Given the description of an element on the screen output the (x, y) to click on. 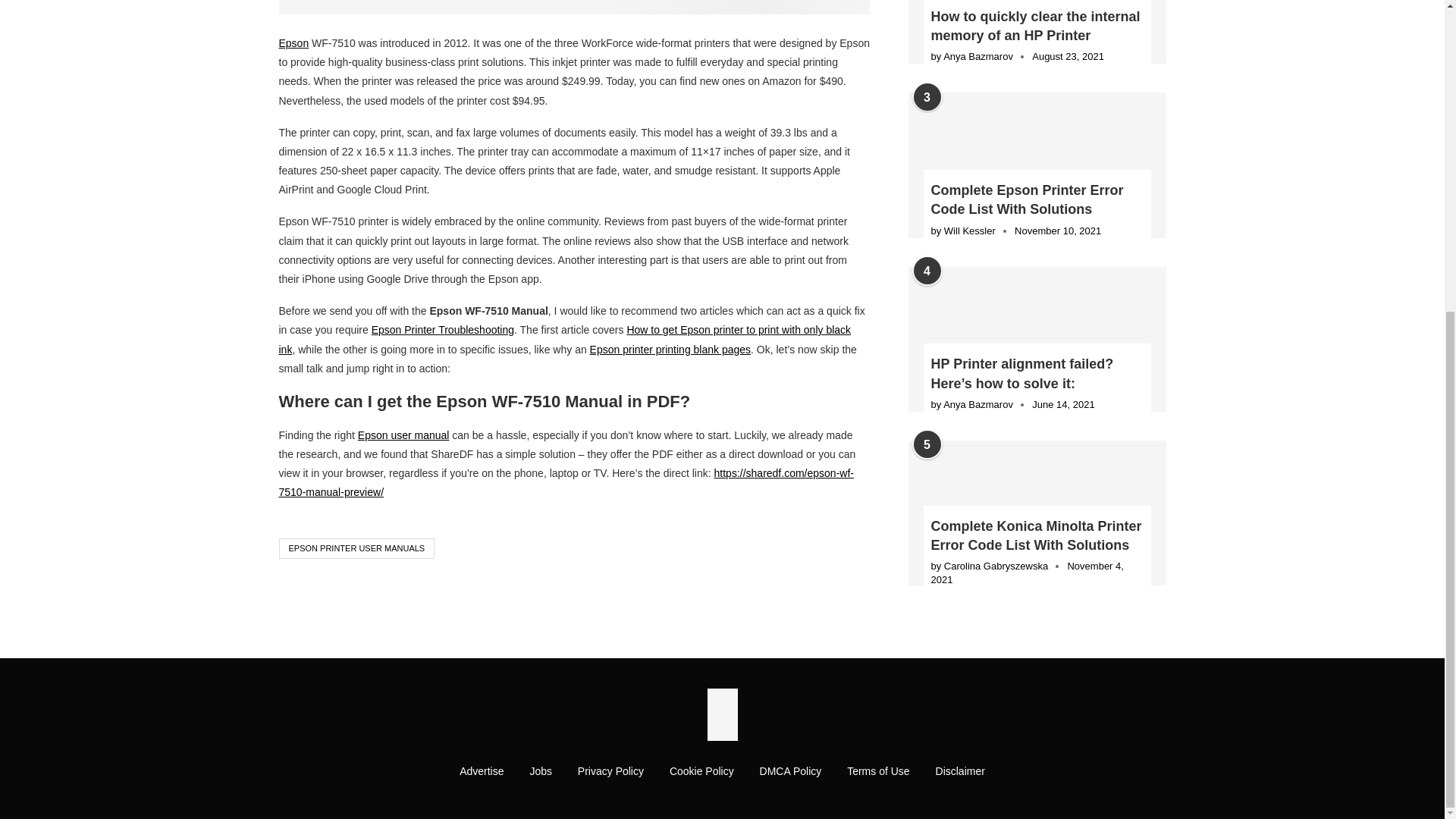
How to quickly clear the internal memory of an HP Printer (1037, 31)
Complete Epson Printer Error Code List With Solutions (1037, 164)
How to quickly clear the internal memory of an HP Printer (1036, 26)
Complete Epson Printer Error Code List With Solutions (1036, 199)
